Given the description of an element on the screen output the (x, y) to click on. 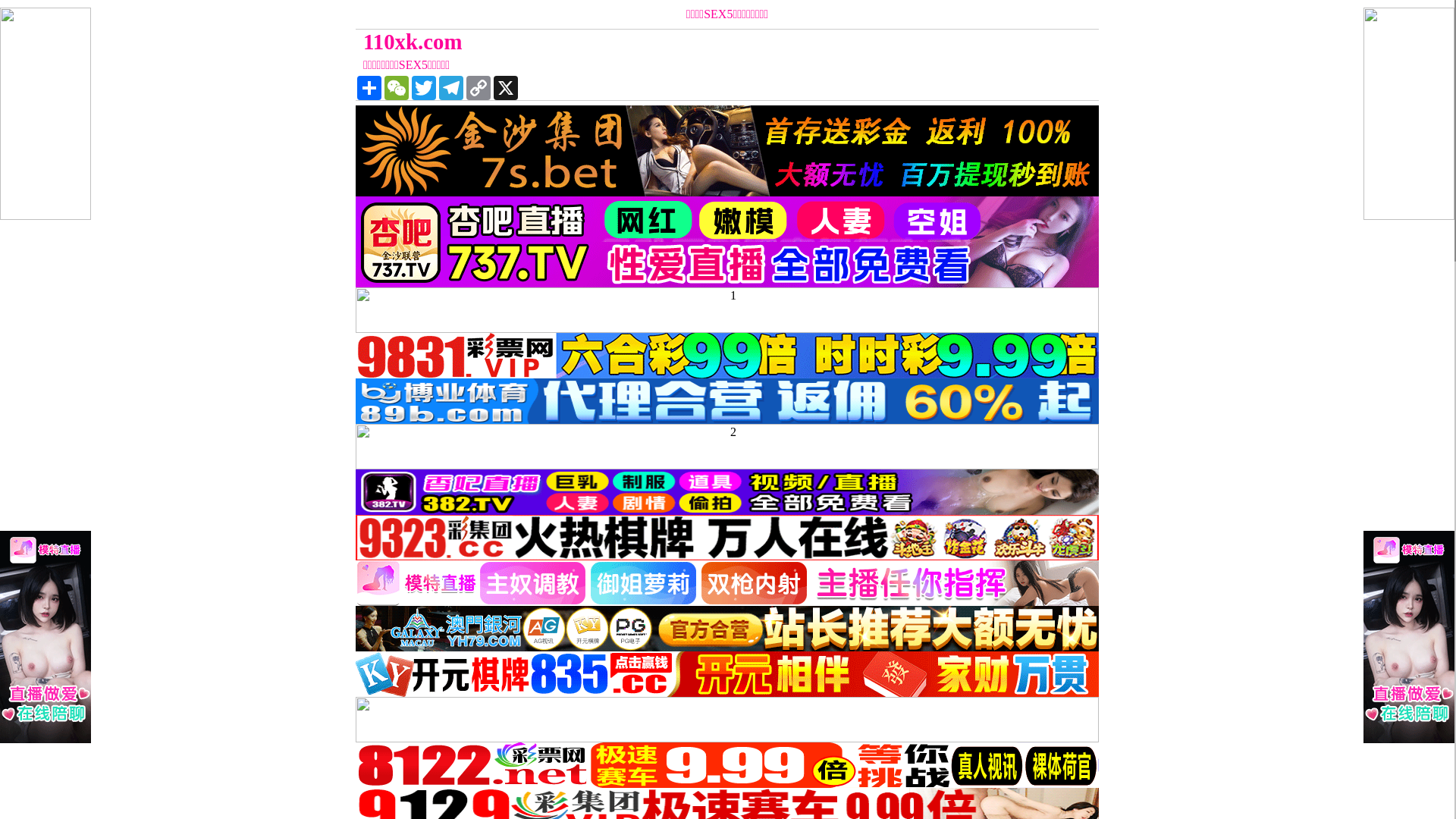
Telegram Element type: text (450, 87)
Twitter Element type: text (423, 87)
Copy Link Element type: text (478, 87)
110xk.com Element type: text (634, 41)
X Element type: text (505, 87)
WeChat Element type: text (396, 87)
